Given the description of an element on the screen output the (x, y) to click on. 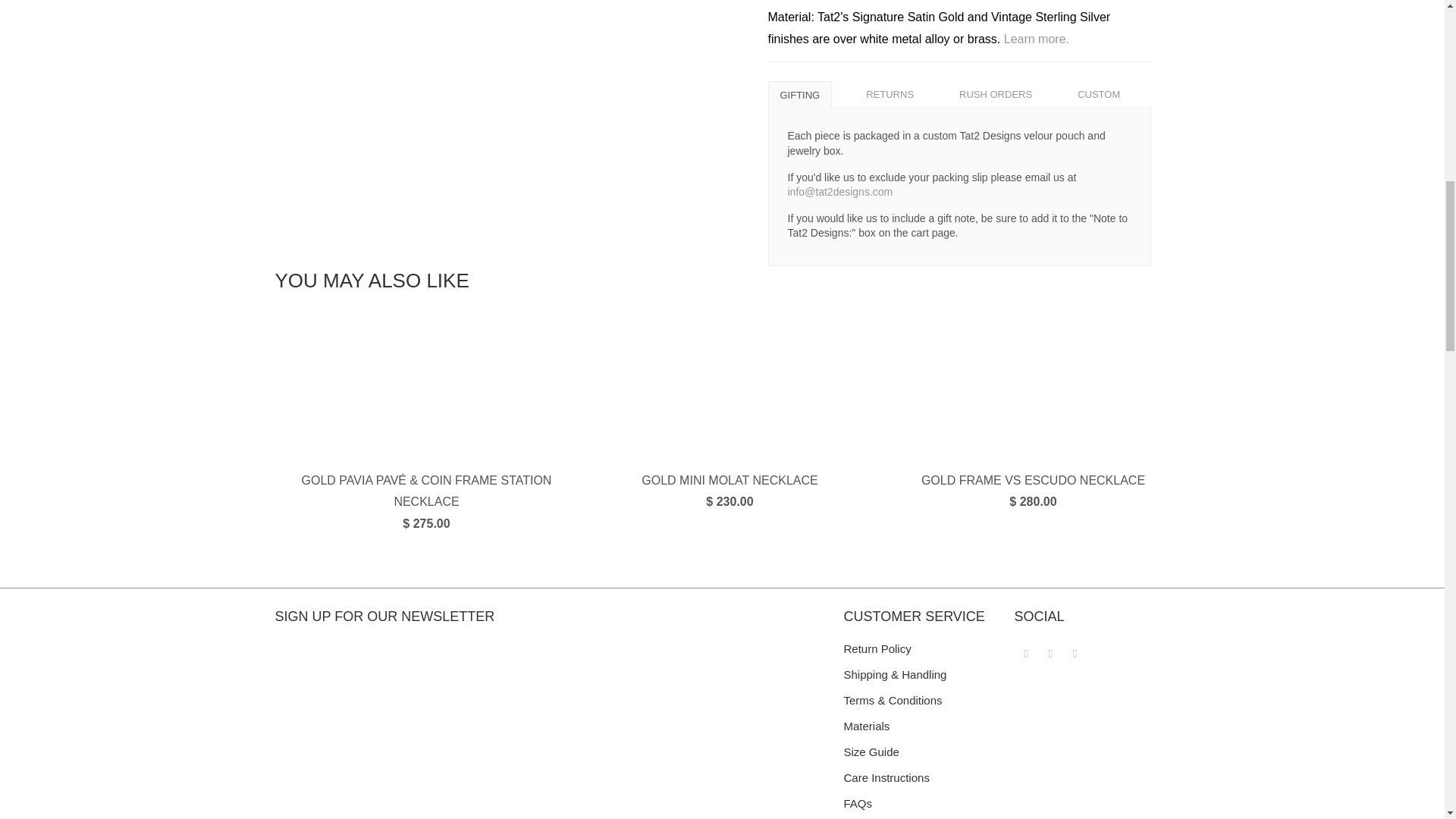
GBP (970, 449)
DOP (970, 205)
CZK (970, 100)
ETB (970, 309)
EGP (970, 274)
FKP (970, 414)
Tat2 Designs on Instagram (1050, 652)
Tat2 Designs on Facebook (1026, 652)
Email Tat2 Designs (1074, 652)
CVE (970, 65)
FJD (970, 379)
DJF (970, 135)
CNY (970, 6)
DKK (970, 170)
CRC (970, 30)
